Given the description of an element on the screen output the (x, y) to click on. 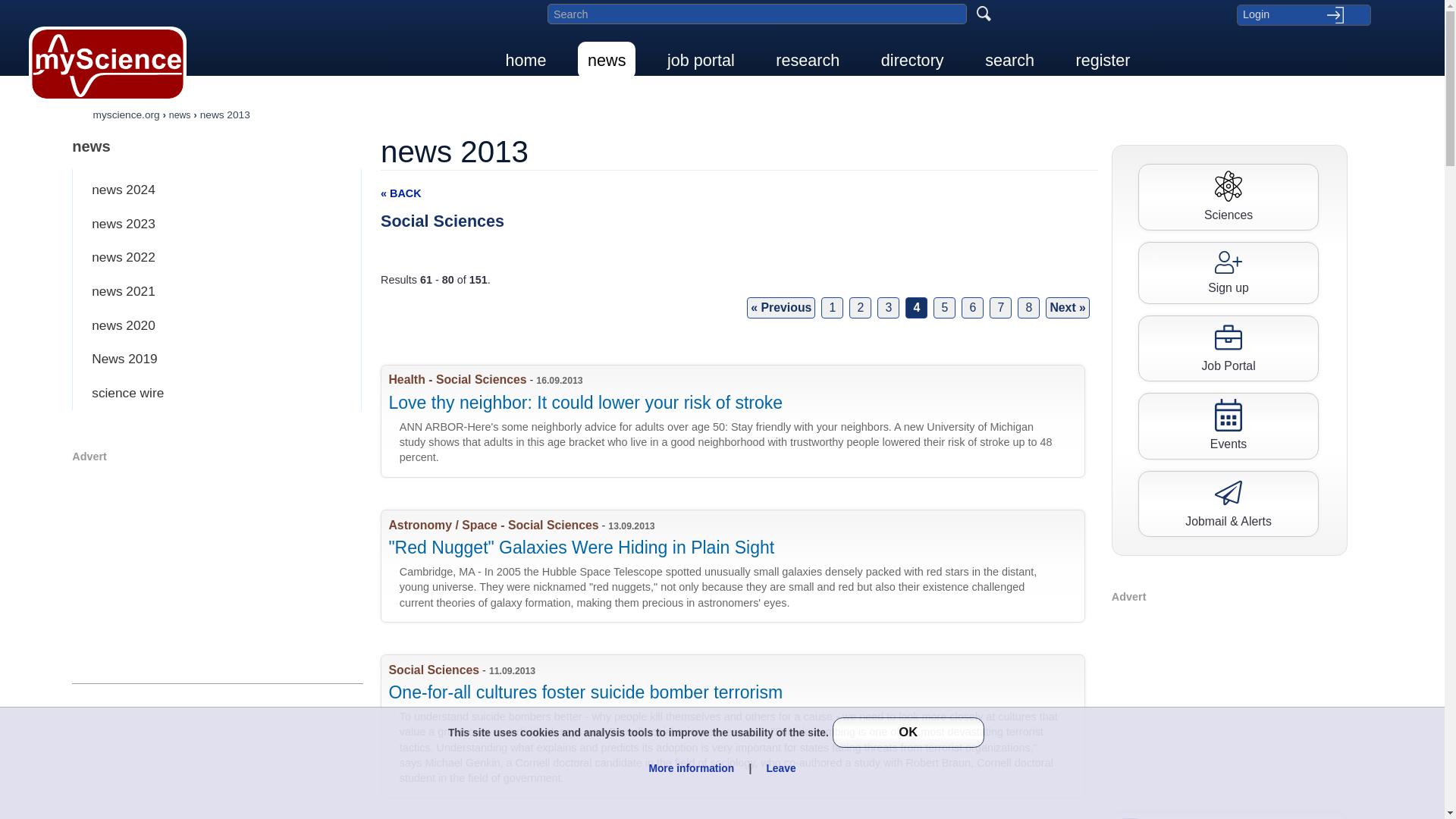
 news  (216, 145)
research (806, 59)
Login (1303, 14)
HARVARD (738, 565)
job portal (701, 59)
Search in myscience.org (756, 14)
CORNELL (738, 725)
directory (911, 59)
news (606, 59)
UMICH (738, 420)
myScience Home (107, 63)
Advertisement (216, 571)
home (526, 59)
